Given the description of an element on the screen output the (x, y) to click on. 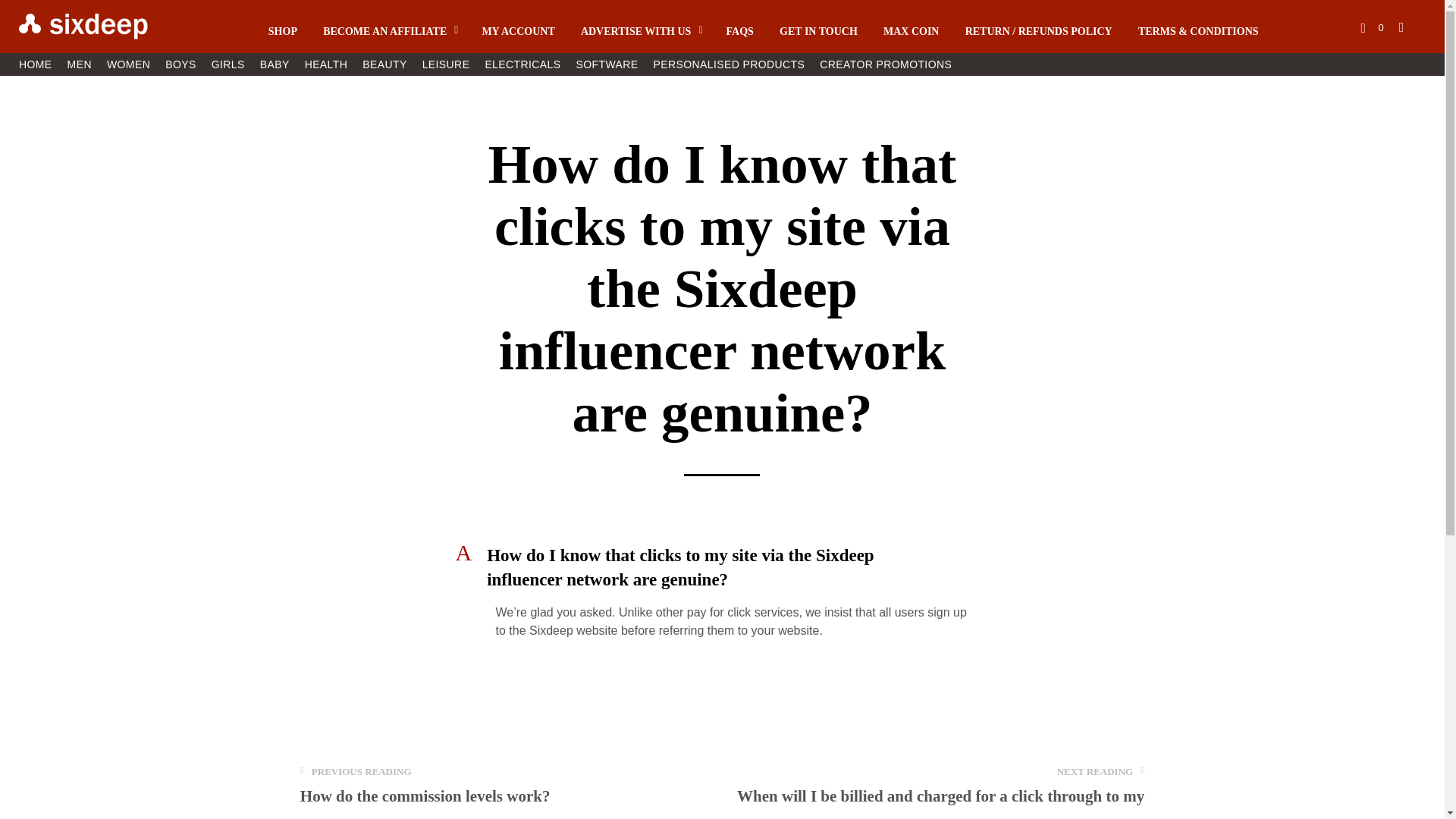
MAX COIN (911, 31)
GET IN TOUCH (818, 31)
BOYS (180, 64)
WOMEN (127, 64)
SHOP (282, 31)
MY ACCOUNT (518, 31)
HOME (35, 64)
ADVERTISE WITH US (636, 31)
FAQS (739, 31)
0 (1371, 27)
BECOME AN AFFILIATE (384, 31)
MEN (78, 64)
